Given the description of an element on the screen output the (x, y) to click on. 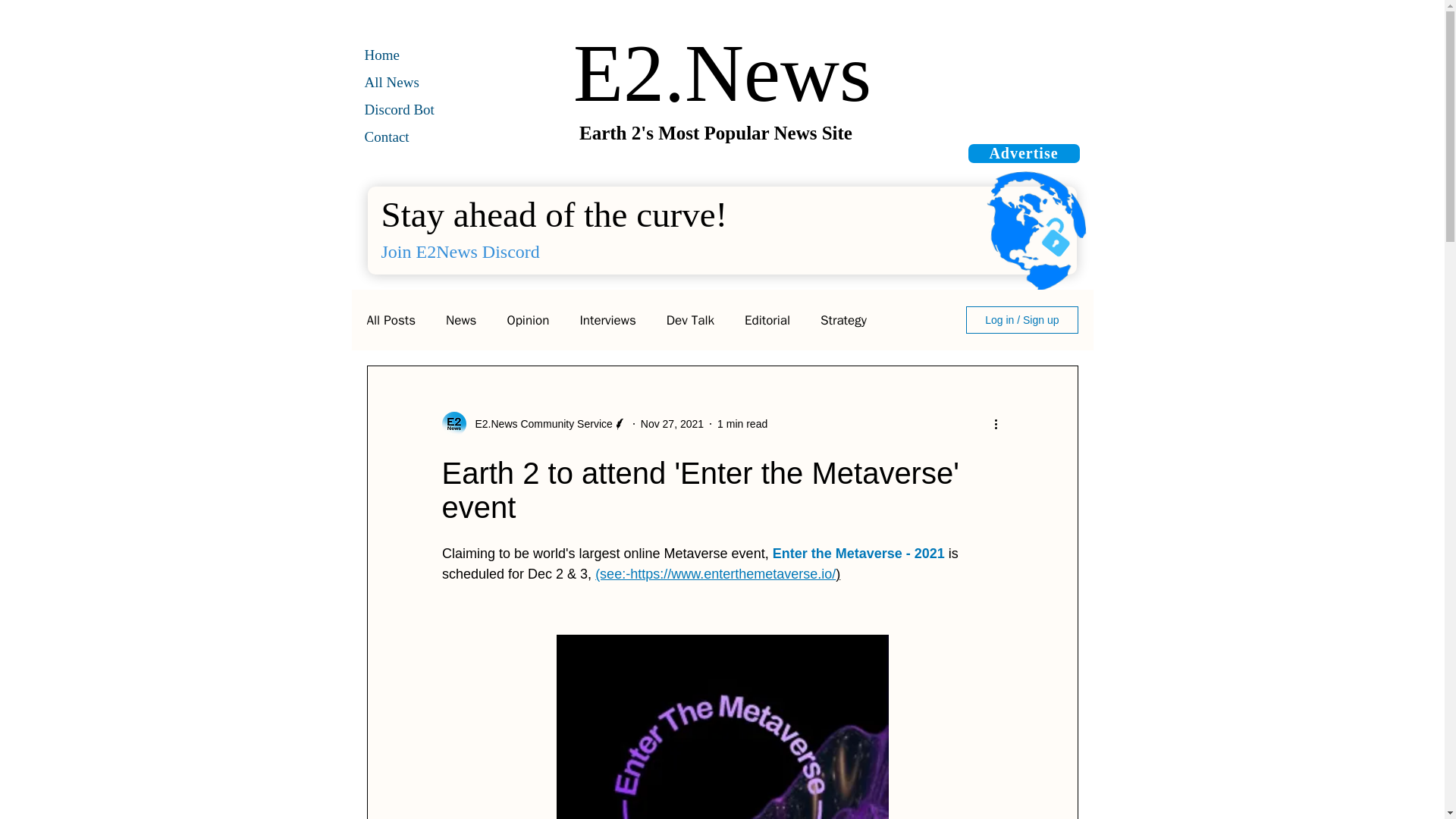
Editorial (767, 320)
Stay ahead of the curve! (553, 214)
All News (391, 82)
E2.News Community Service (538, 424)
Join E2News Discord  (461, 251)
Earth 2's Most Popular News Site (715, 132)
Strategy (843, 320)
Opinion (527, 320)
E2.News Community Service (533, 423)
Home  (383, 54)
Dev Talk (690, 320)
E2.News (721, 72)
All Posts (391, 320)
Discord Bot (398, 109)
Interviews (606, 320)
